Given the description of an element on the screen output the (x, y) to click on. 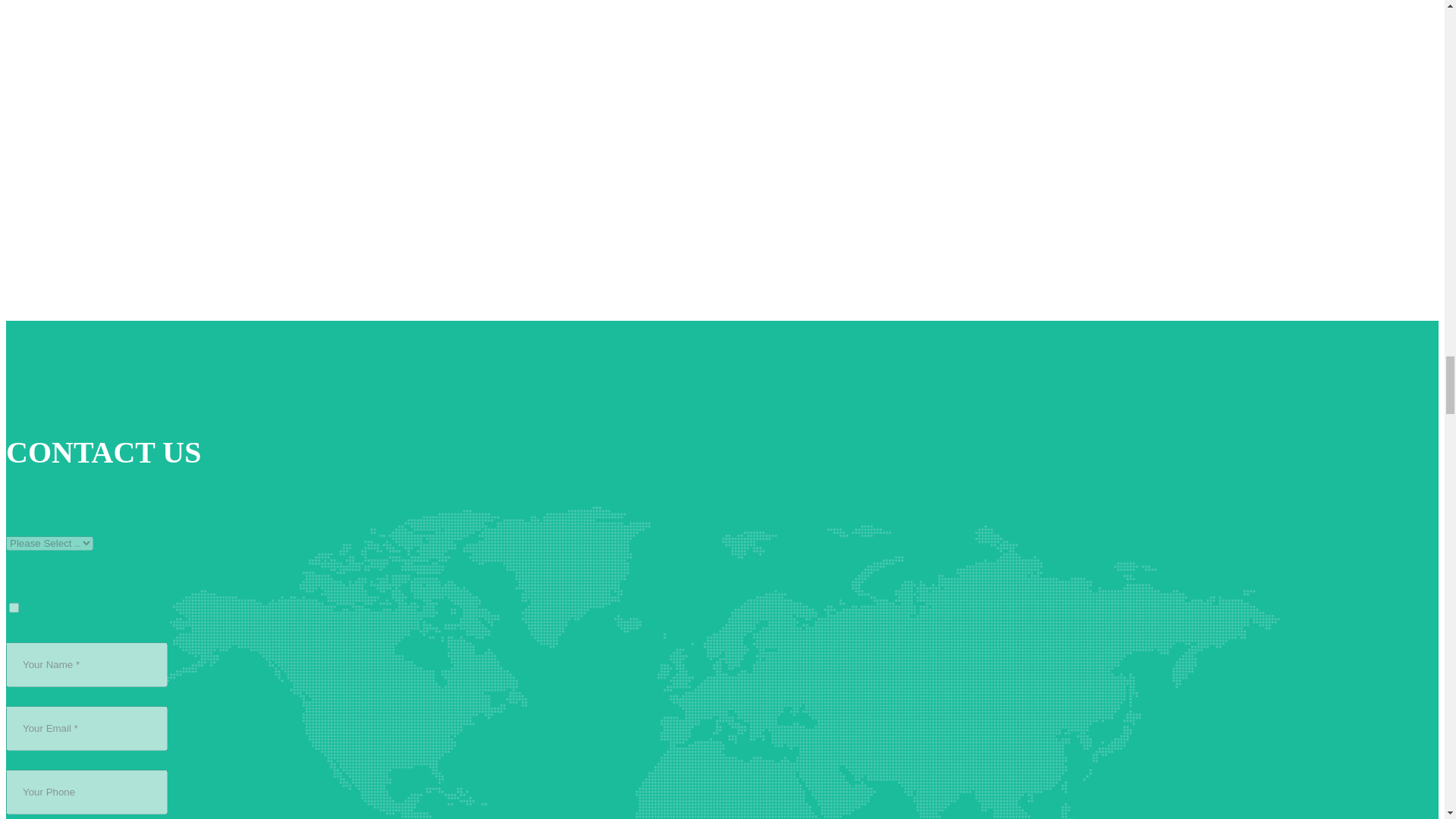
on (13, 607)
